Given the description of an element on the screen output the (x, y) to click on. 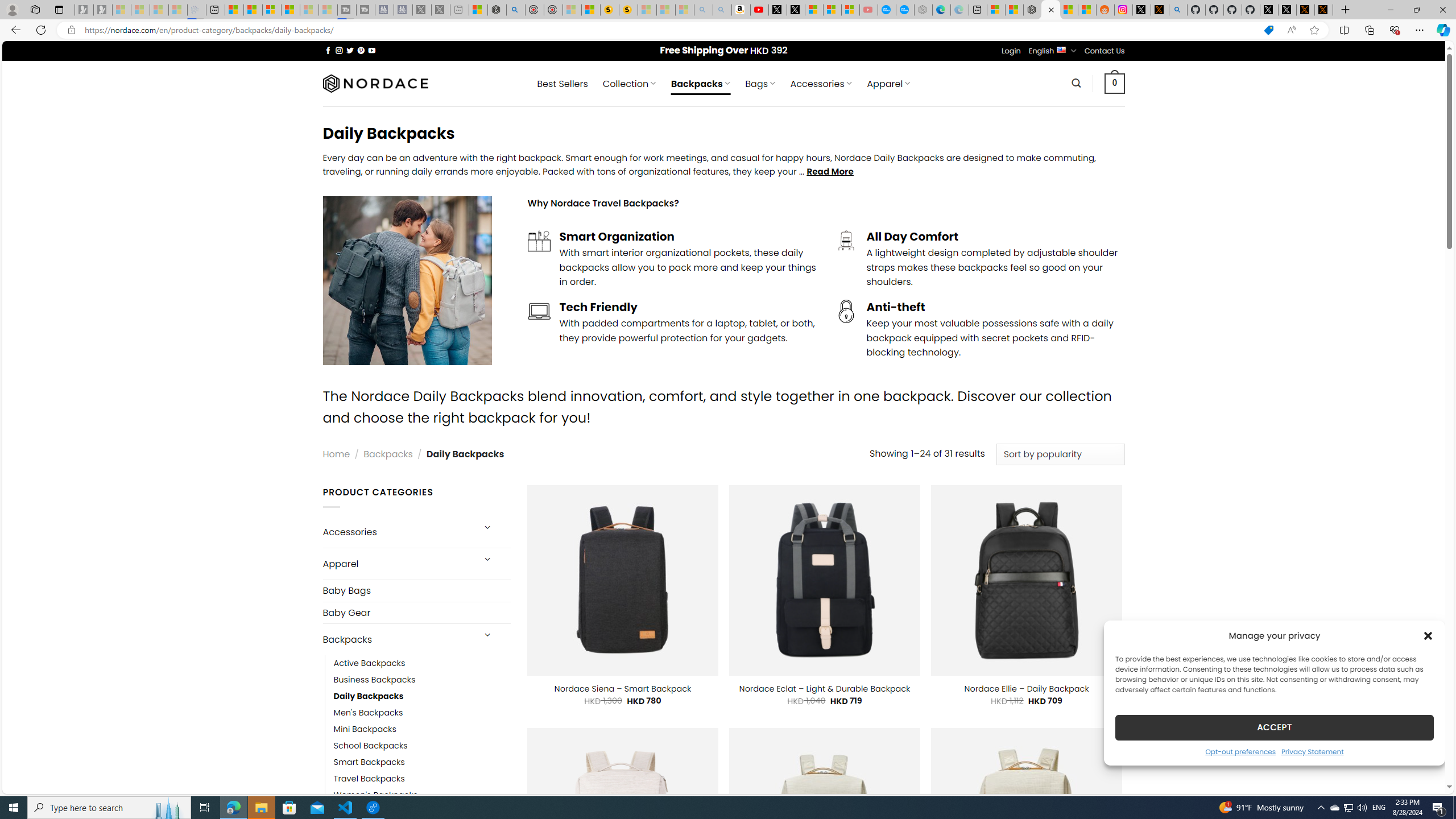
Nordace - Nordace has arrived Hong Kong - Sleeping (923, 9)
Travel Backpacks (368, 778)
  0   (1115, 83)
Login (1010, 50)
Baby Bags (416, 590)
The most popular Google 'how to' searches (904, 9)
